Given the description of an element on the screen output the (x, y) to click on. 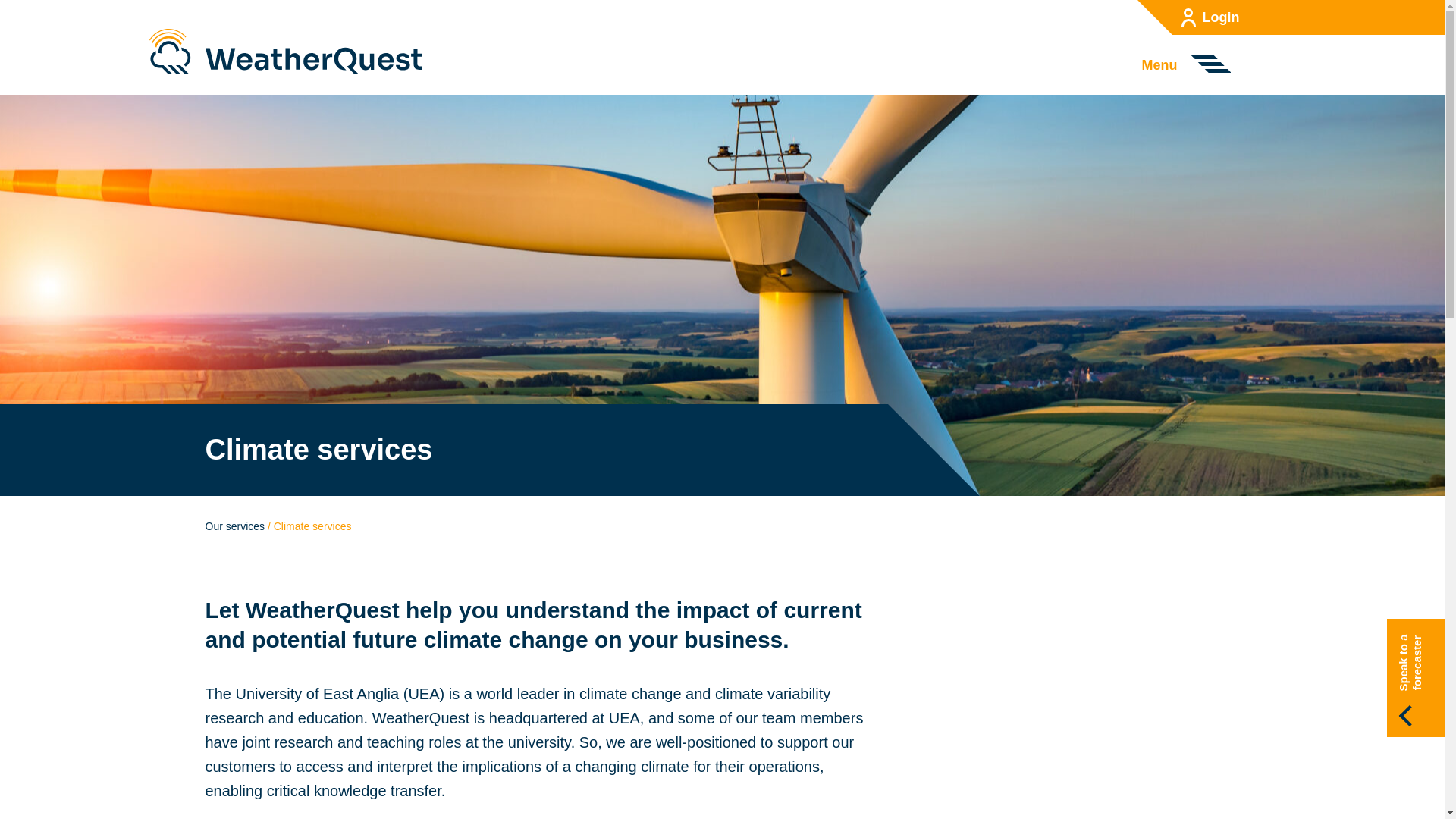
Our services (234, 526)
Menu (1163, 64)
Login (1206, 17)
